Given the description of an element on the screen output the (x, y) to click on. 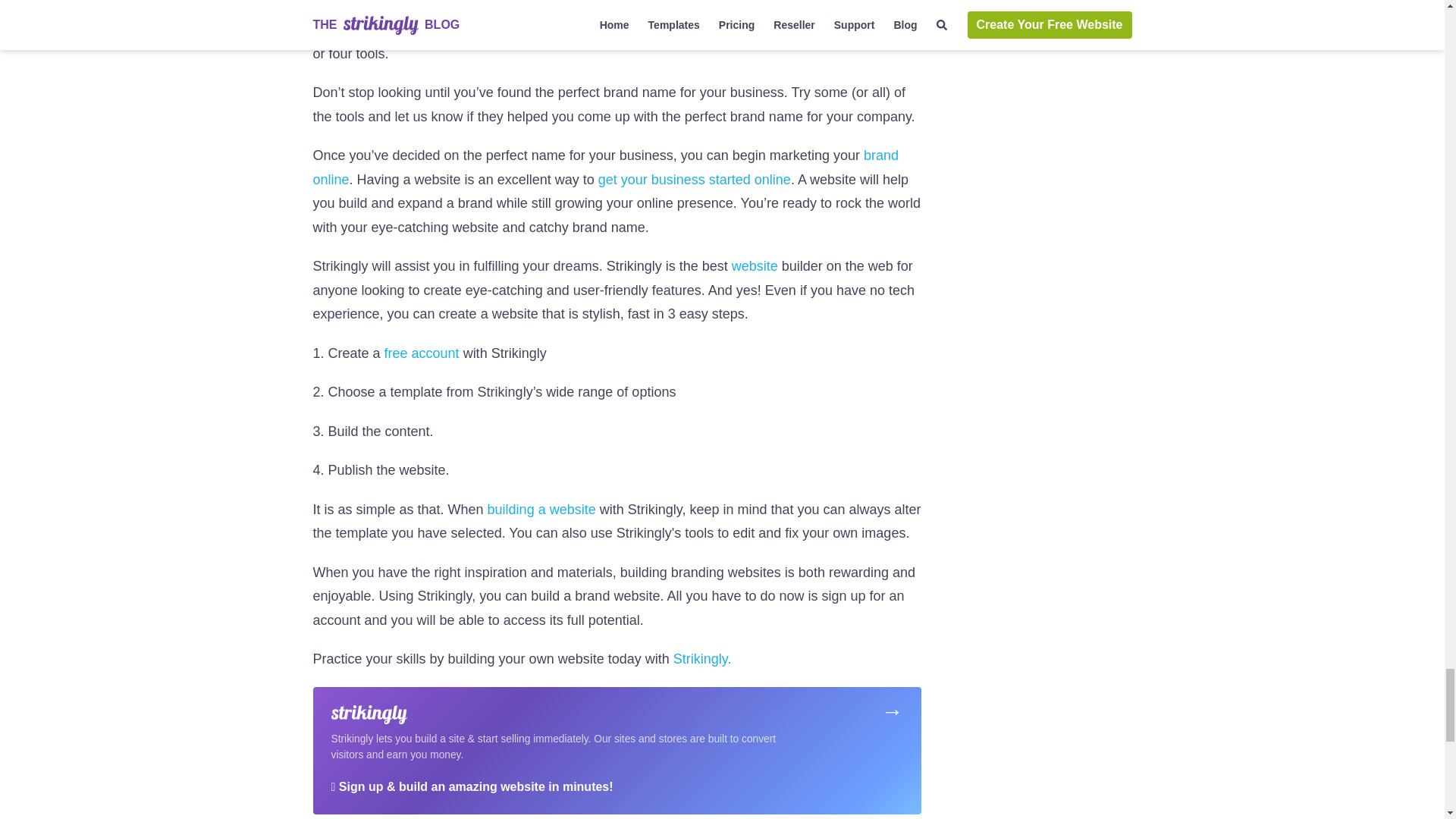
Strikingly Logo (368, 714)
website (754, 265)
building a website (541, 509)
free account (422, 353)
brand online (605, 167)
get your business started online (694, 179)
